Given the description of an element on the screen output the (x, y) to click on. 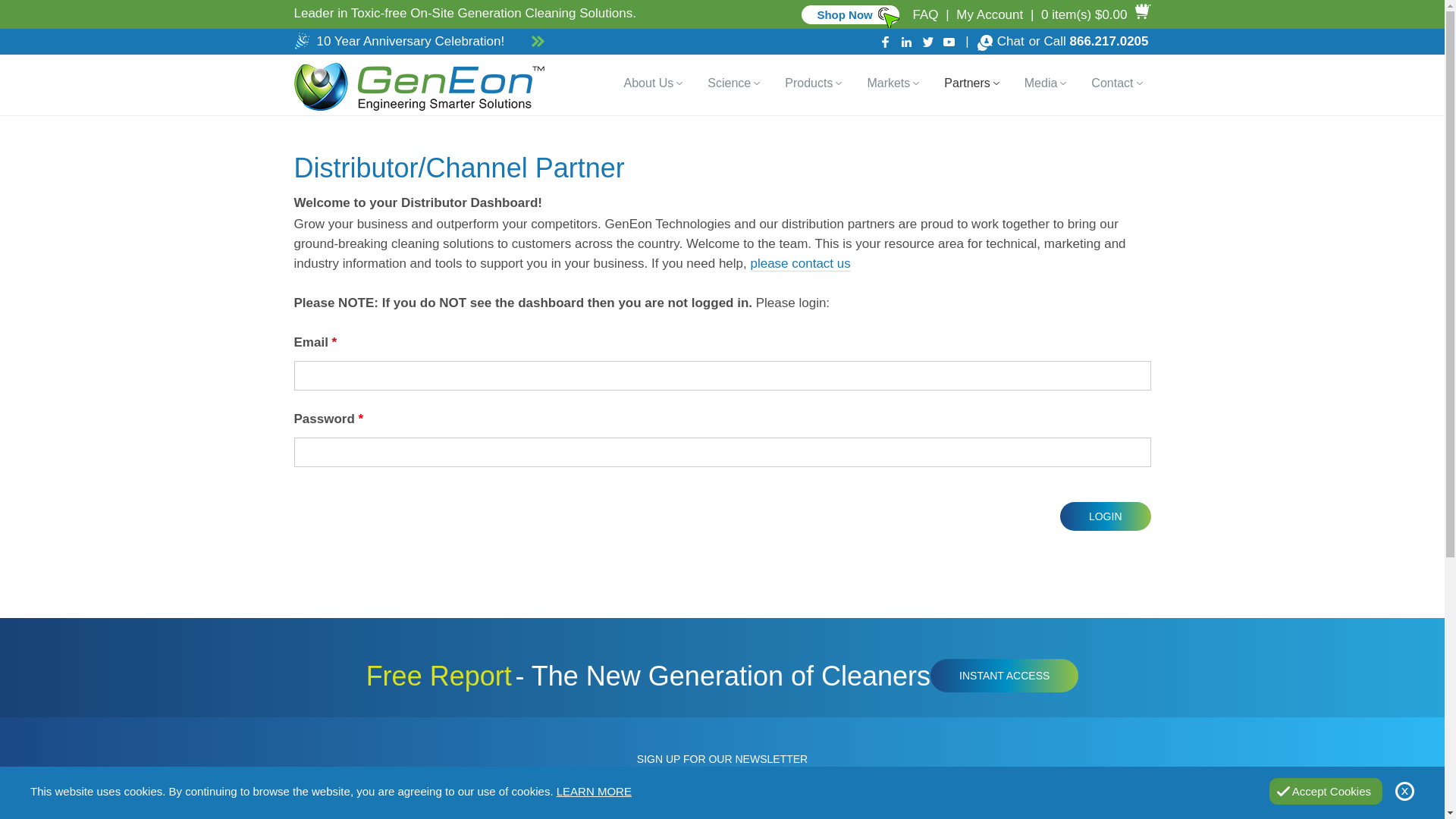
Markets (888, 83)
Leader in Toxic-free On-Site Generation Cleaning Solutions. (465, 12)
FAQ (924, 14)
866.217.0205 (1108, 41)
Science (729, 83)
About Us (649, 83)
Call GenEon Technologies (1108, 41)
View Cart (1093, 14)
Commercial (850, 14)
About GenEon Technologies (649, 83)
My Account (989, 14)
Products (808, 83)
Tag.FirstName (376, 817)
Cart (1083, 14)
